Given the description of an element on the screen output the (x, y) to click on. 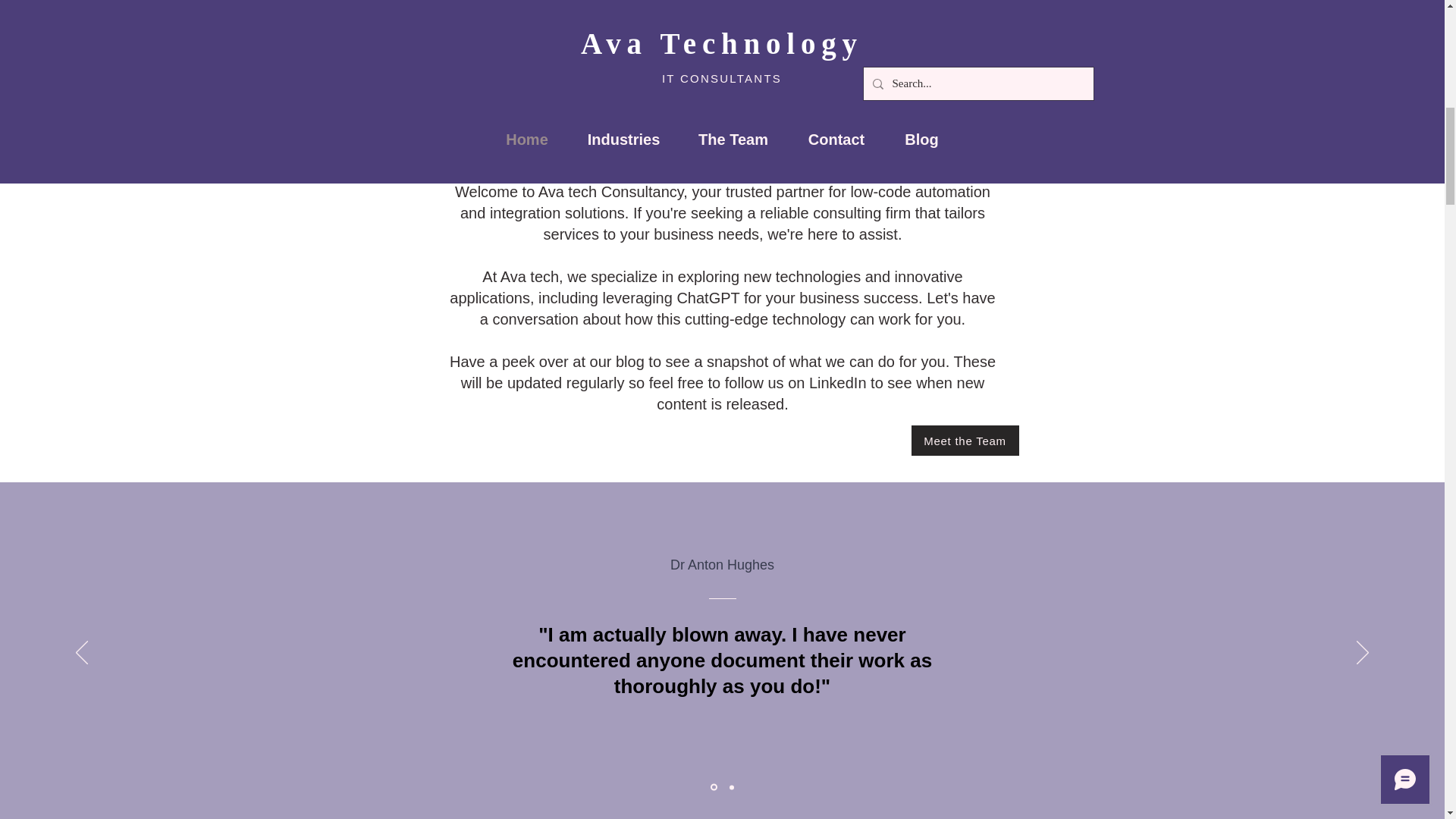
Meet the Team (965, 440)
